Given the description of an element on the screen output the (x, y) to click on. 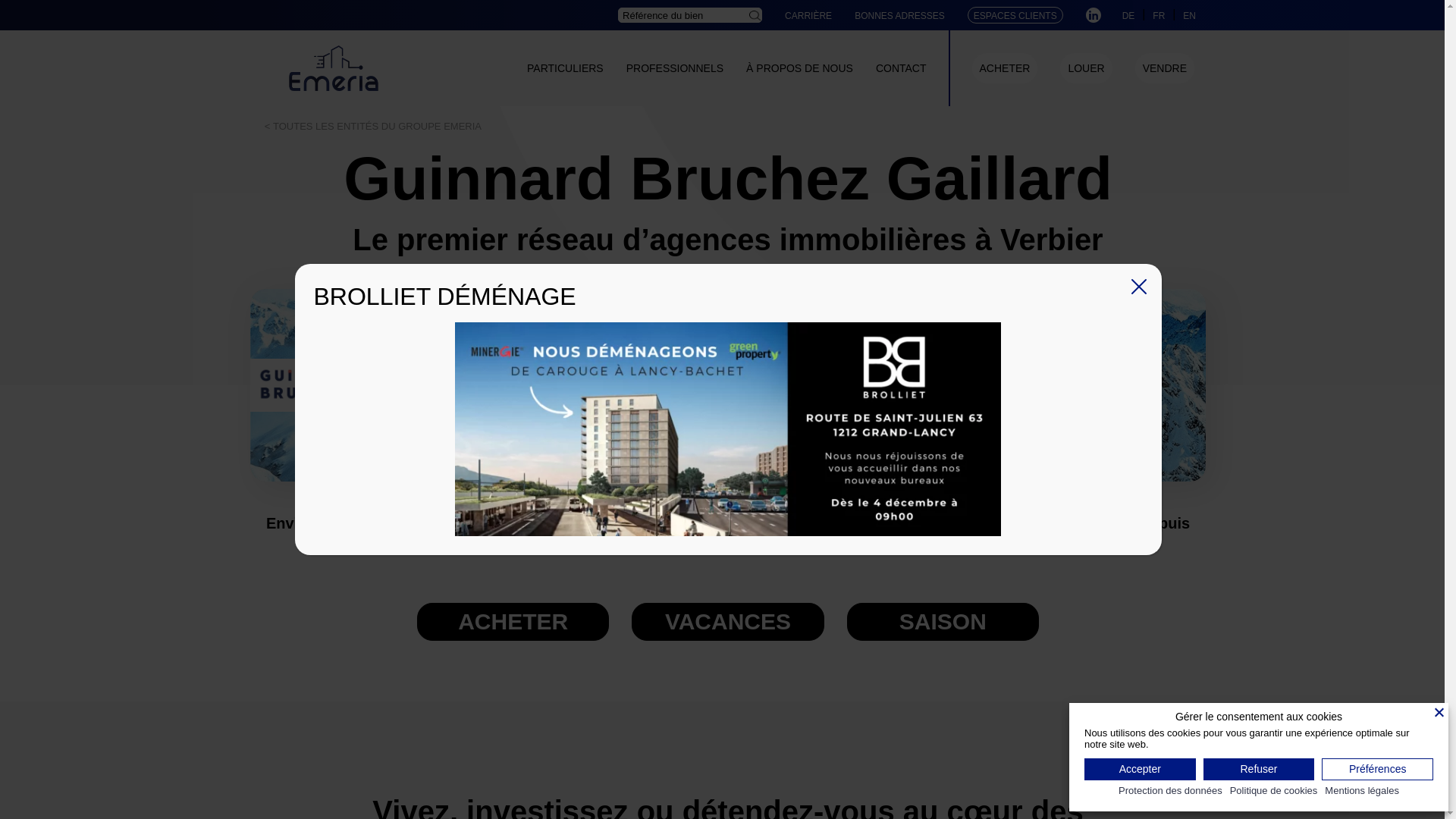
LOUER Element type: text (1085, 68)
PARTICULIERS Element type: text (565, 68)
ACHETER Element type: text (1004, 68)
VACANCES Element type: text (727, 622)
EN Element type: text (1189, 15)
PROFESSIONNELS Element type: text (674, 68)
BONNES ADRESSES Element type: text (899, 15)
Politique de cookies Element type: text (1273, 792)
X Element type: text (1138, 286)
ACHETER Element type: text (512, 622)
SAISON Element type: text (942, 622)
VENDRE Element type: text (1164, 68)
Trouver Emeria sur Linkedin Element type: hover (1093, 14)
ESPACES CLIENTS Element type: text (1015, 15)
Emeria Entites Guinnard Bruchez Gaillard Bandeau Element type: hover (727, 384)
CONTACT Element type: text (900, 68)
gbg_arrondi Element type: hover (355, 384)
FR Element type: text (1158, 15)
DE Element type: text (1128, 15)
